Given the description of an element on the screen output the (x, y) to click on. 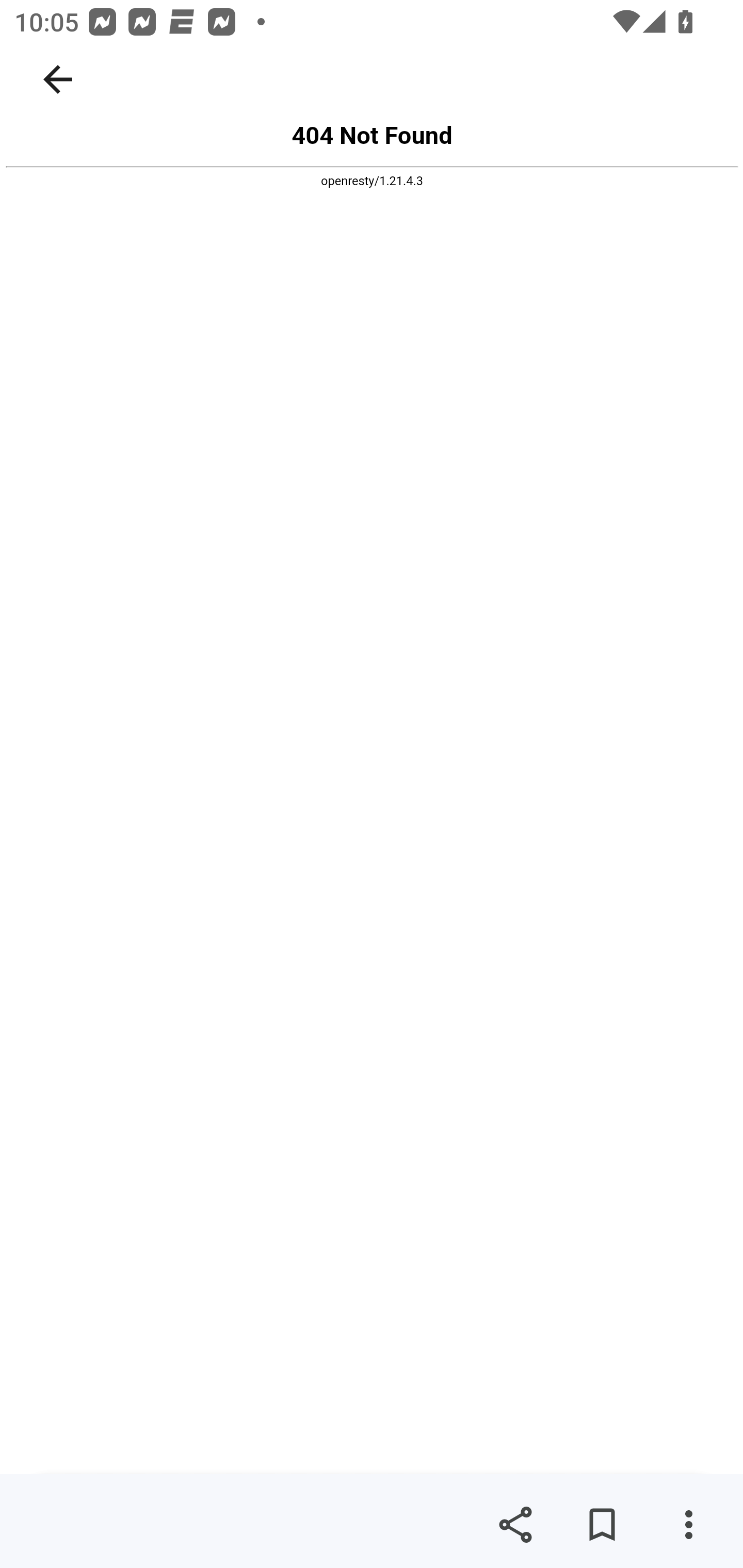
Navigate up (57, 79)
Share (514, 1524)
Save for later (601, 1524)
More options (688, 1524)
